Given the description of an element on the screen output the (x, y) to click on. 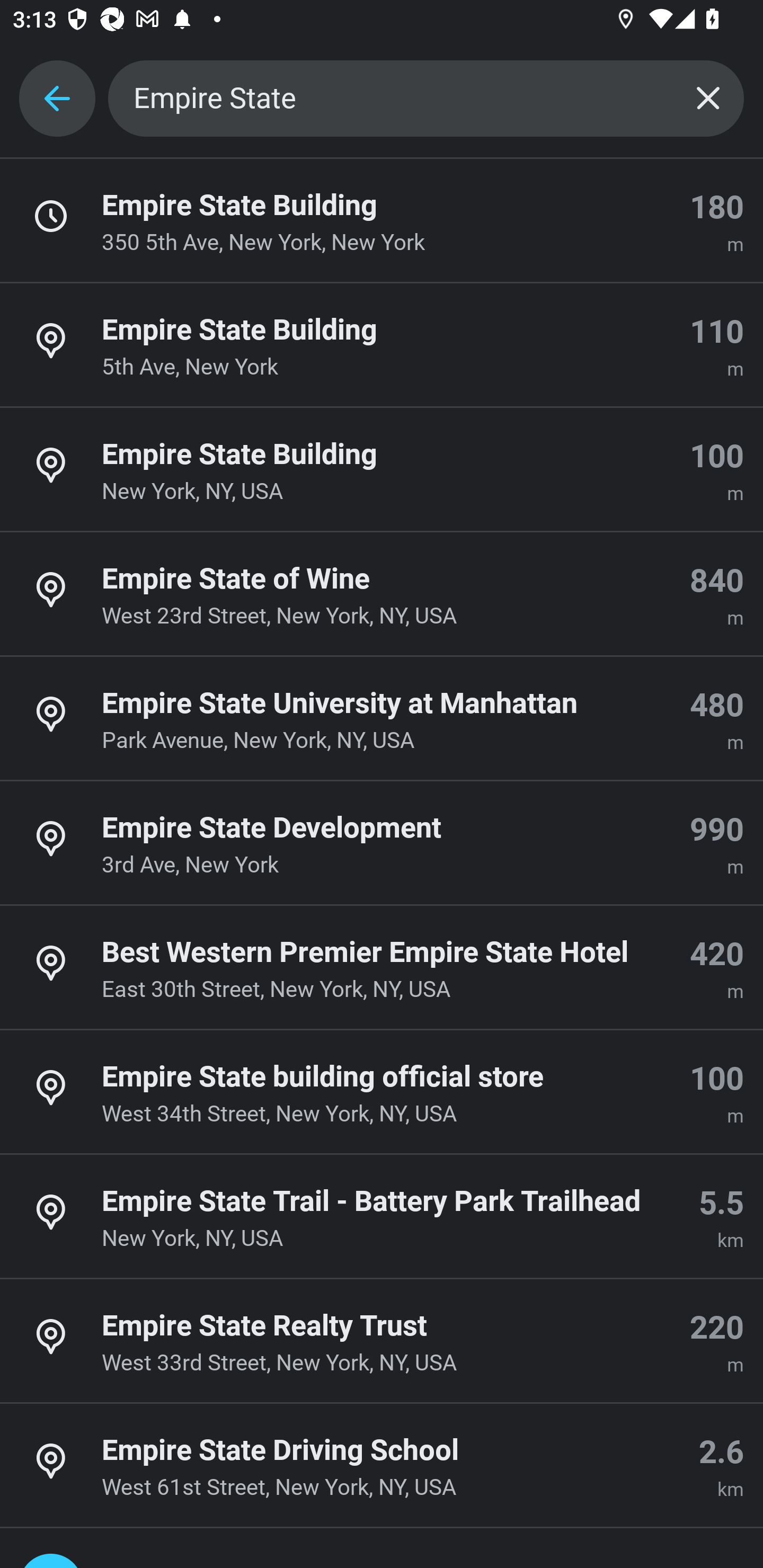
Empire State sideMenuSearchBox (425, 98)
Empire State Building 5th Ave, New York 110 m (381, 345)
Empire State Building New York, NY, USA 100 m (381, 470)
Empire State Development 3rd Ave, New York 990 m (381, 843)
